Given the description of an element on the screen output the (x, y) to click on. 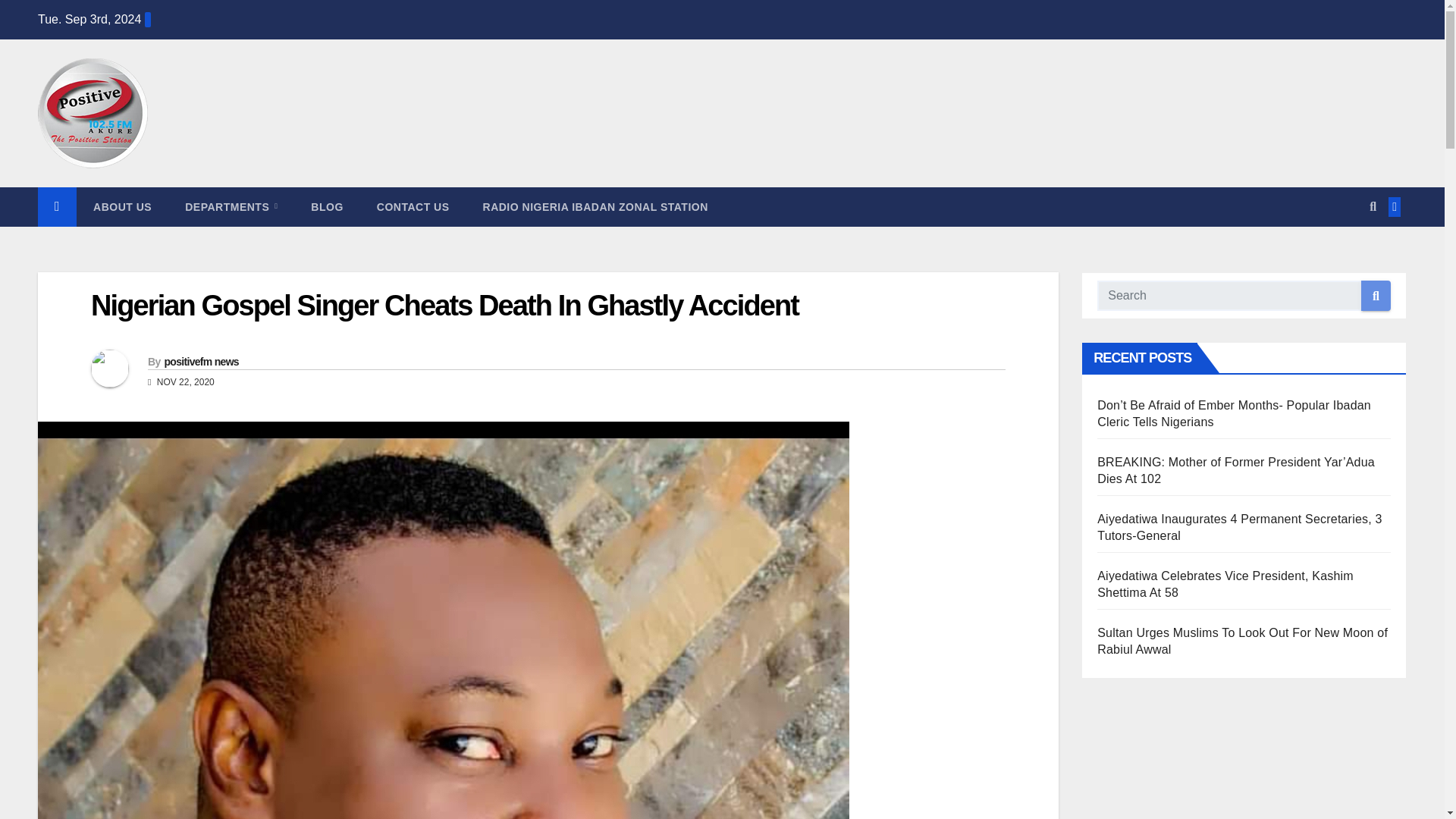
Contact us (412, 206)
Nigerian Gospel Singer Cheats Death In Ghastly Accident (443, 305)
ABOUT US (122, 206)
Radio Nigeria Ibadan Zonal Station (595, 206)
positivefm news (200, 361)
RADIO NIGERIA IBADAN ZONAL STATION (595, 206)
Blog (326, 206)
BLOG (326, 206)
DEPARTMENTS (231, 206)
About us (122, 206)
